Given the description of an element on the screen output the (x, y) to click on. 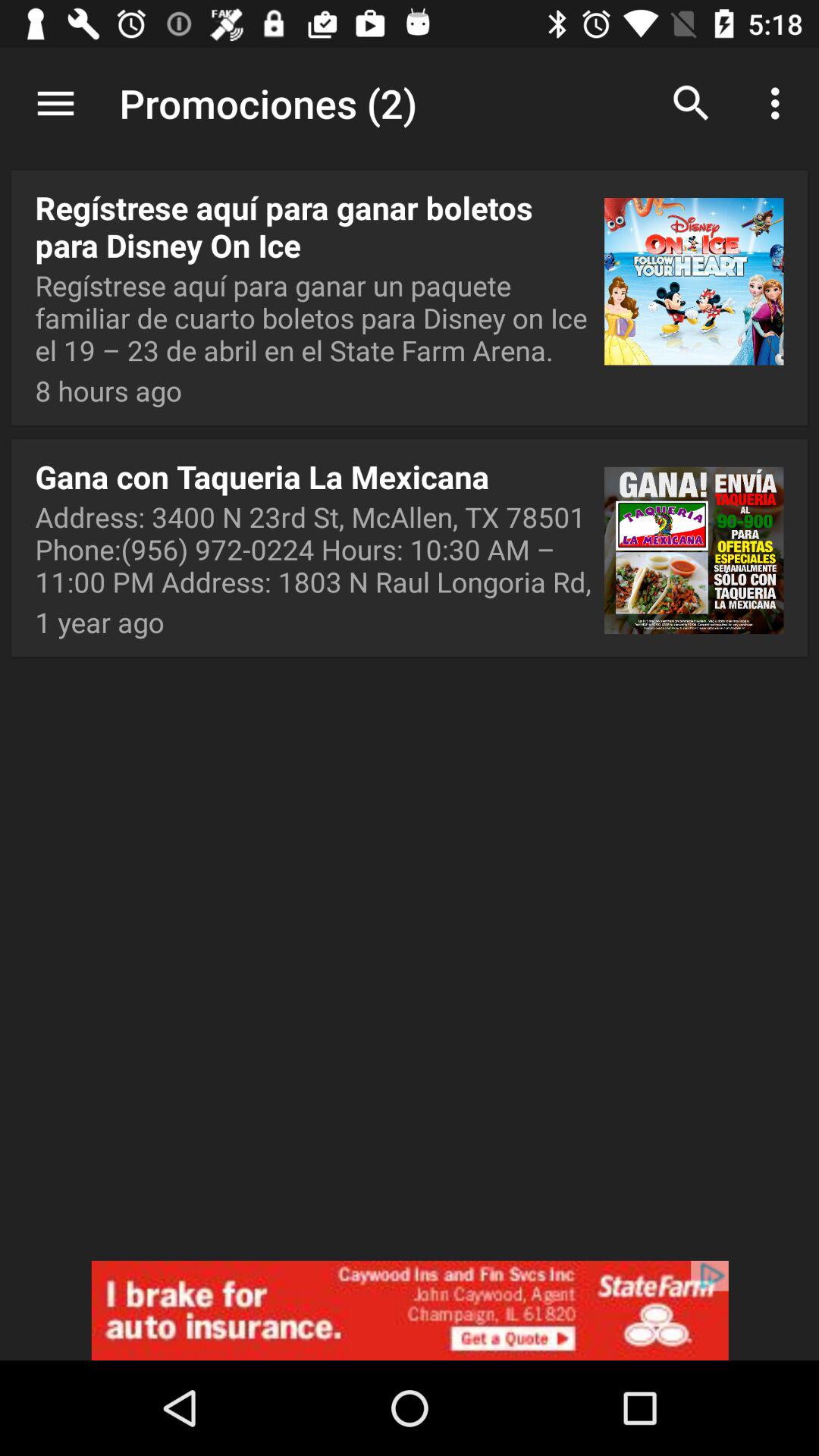
click to enter (409, 1310)
